Given the description of an element on the screen output the (x, y) to click on. 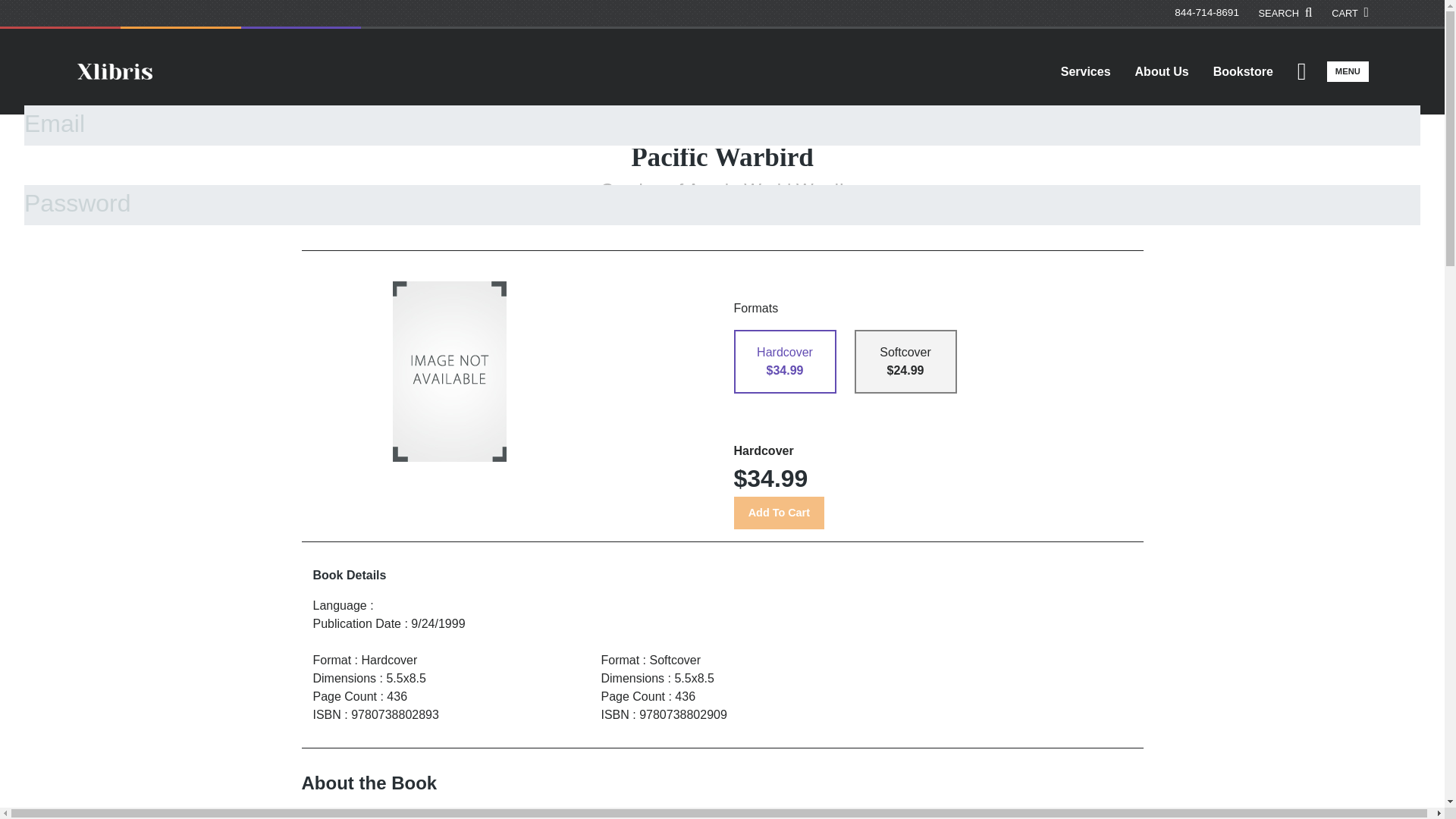
844-714-8691 (1206, 12)
Bookstore (1243, 70)
SEARCH (1286, 12)
CART (1350, 12)
Add To Cart (778, 512)
Services (1085, 70)
MENU (1347, 70)
About Us (1161, 70)
